Given the description of an element on the screen output the (x, y) to click on. 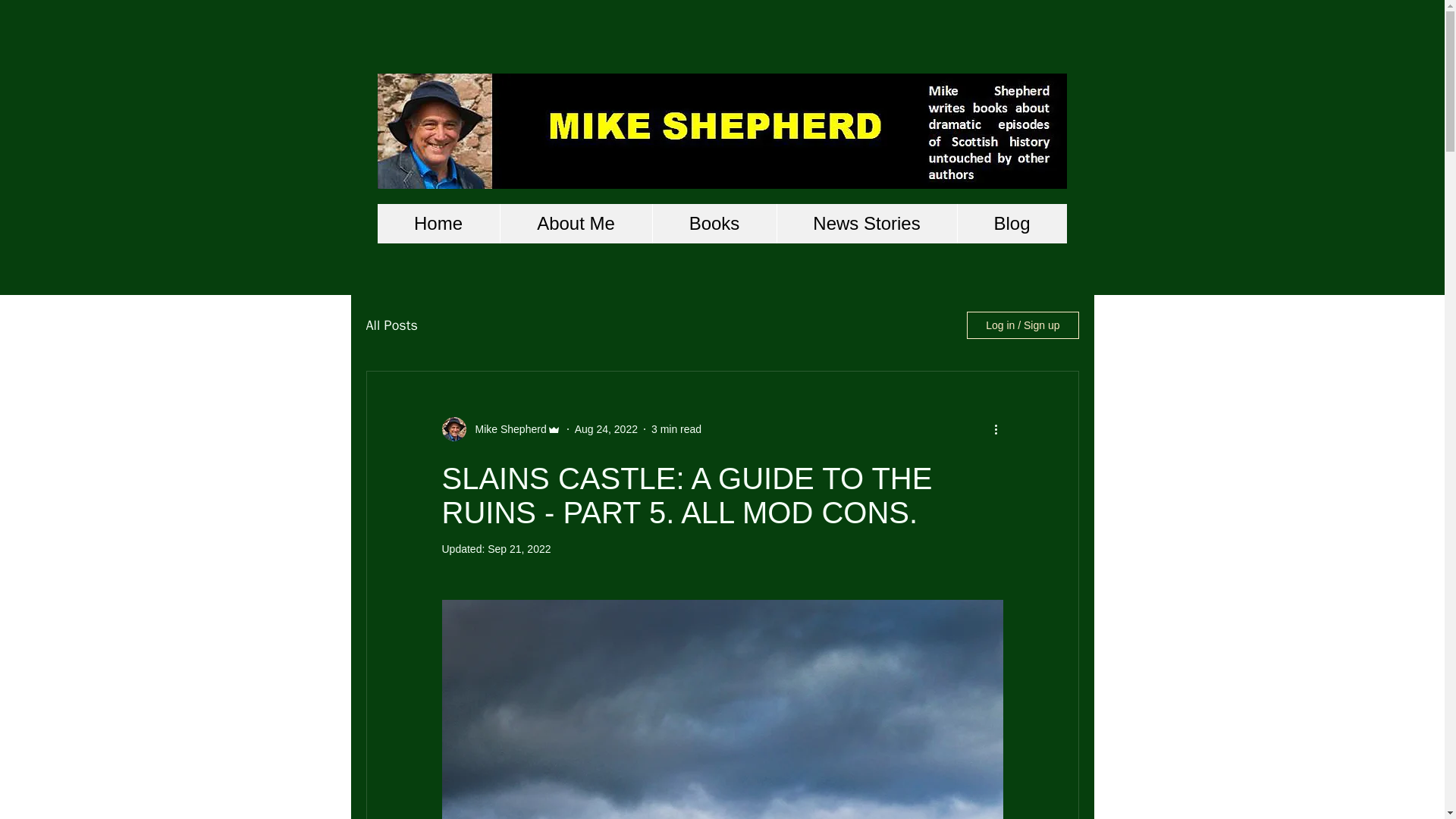
Aug 24, 2022 (606, 428)
News Stories (866, 223)
3 min read (675, 428)
Sep 21, 2022 (518, 548)
Mike Shepherd (505, 429)
All Posts (390, 325)
Books (714, 223)
Blog (1011, 223)
Home (438, 223)
About Me (574, 223)
